Given the description of an element on the screen output the (x, y) to click on. 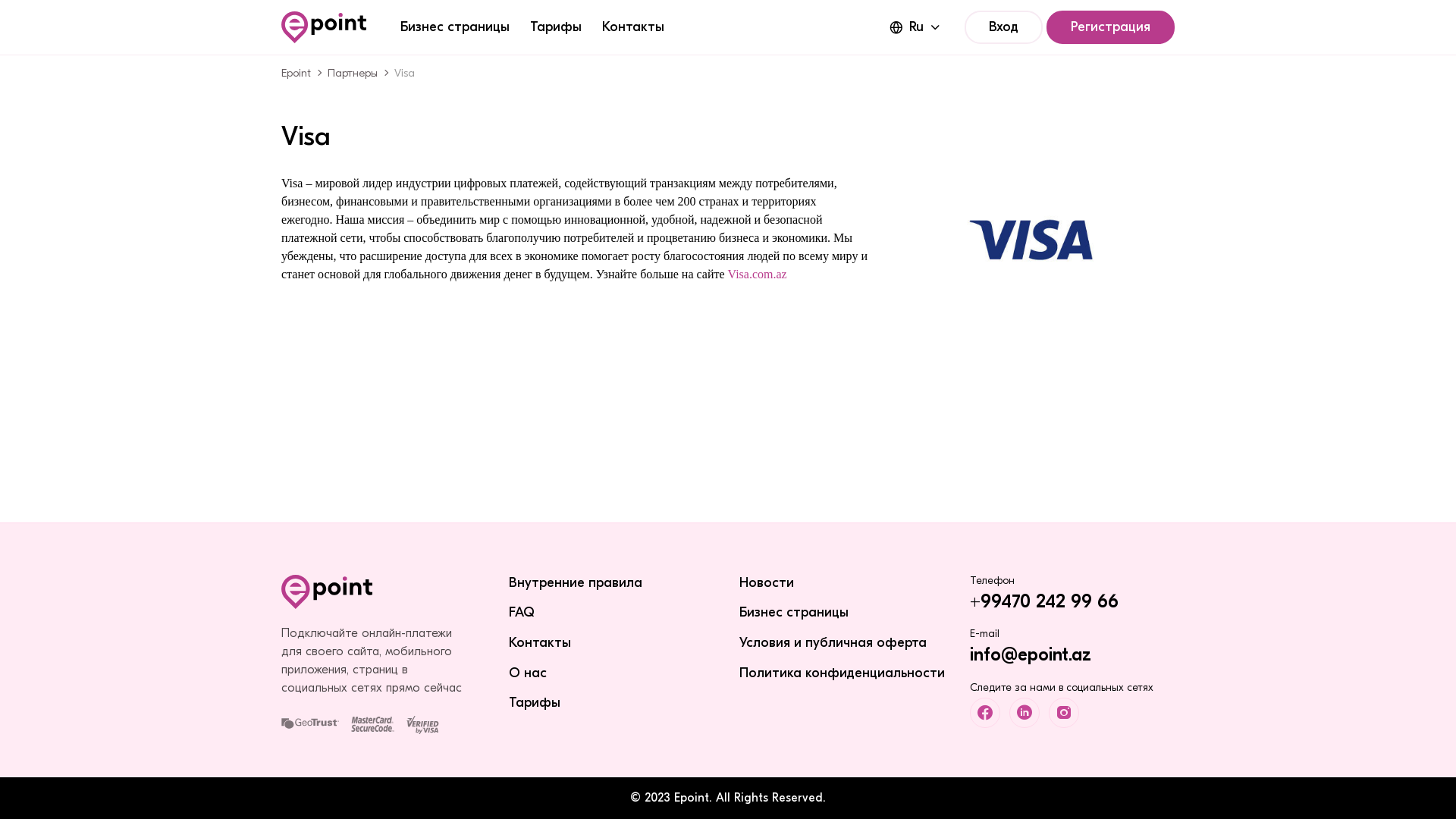
+99470 242 99 66 Element type: text (1043, 600)
Epoint Element type: text (295, 72)
Visa.com.az Element type: text (757, 273)
FAQ Element type: text (521, 612)
info@epoint.az Element type: text (1030, 654)
